Given the description of an element on the screen output the (x, y) to click on. 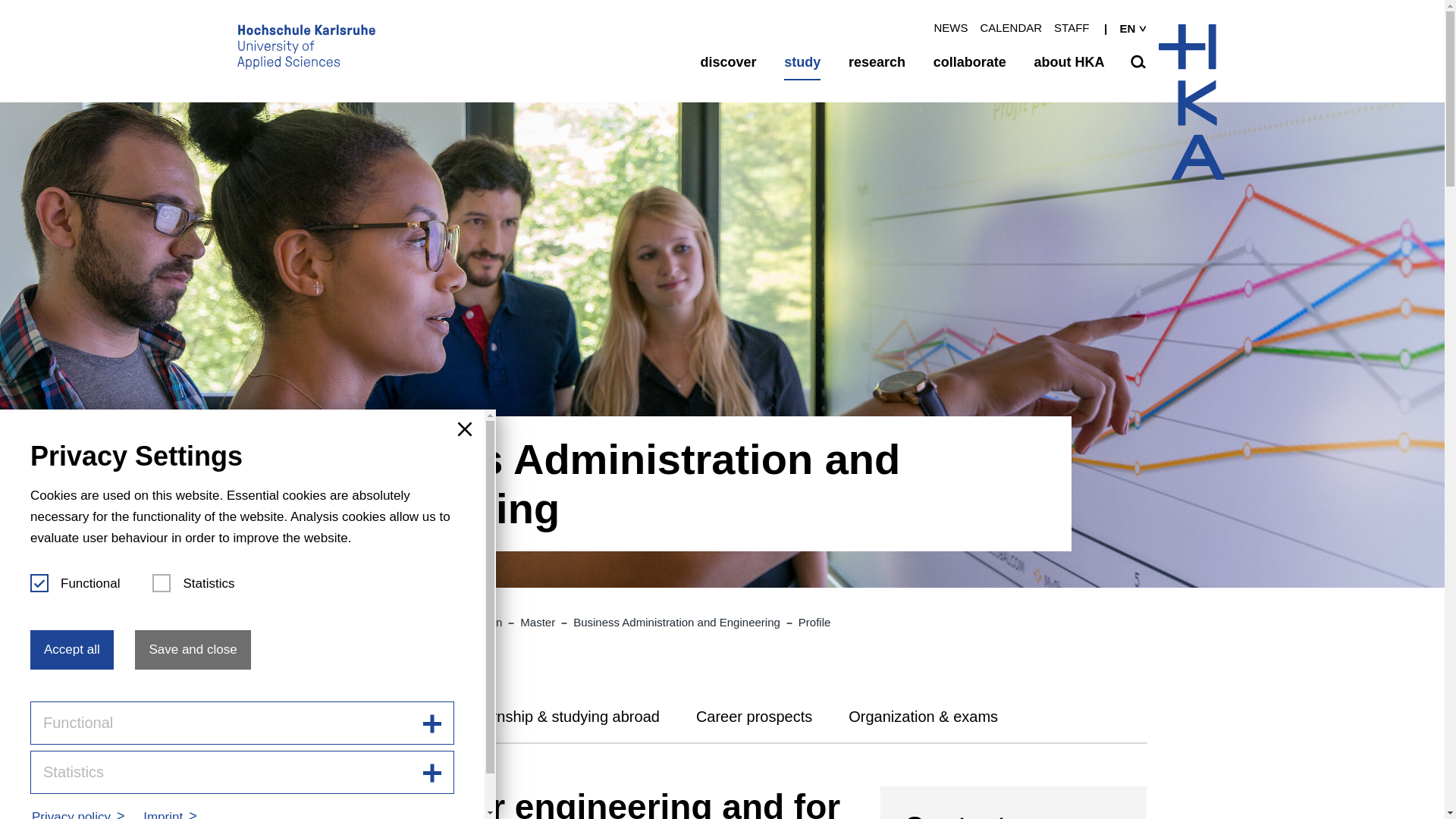
Staff (1071, 27)
DROPDOWN ARROW (1142, 28)
discover (727, 62)
Calendar (1010, 27)
EN DROPDOWN ARROW (1121, 28)
Hochschule Karlsruhe - University of Applied Sciences (304, 50)
